Given the description of an element on the screen output the (x, y) to click on. 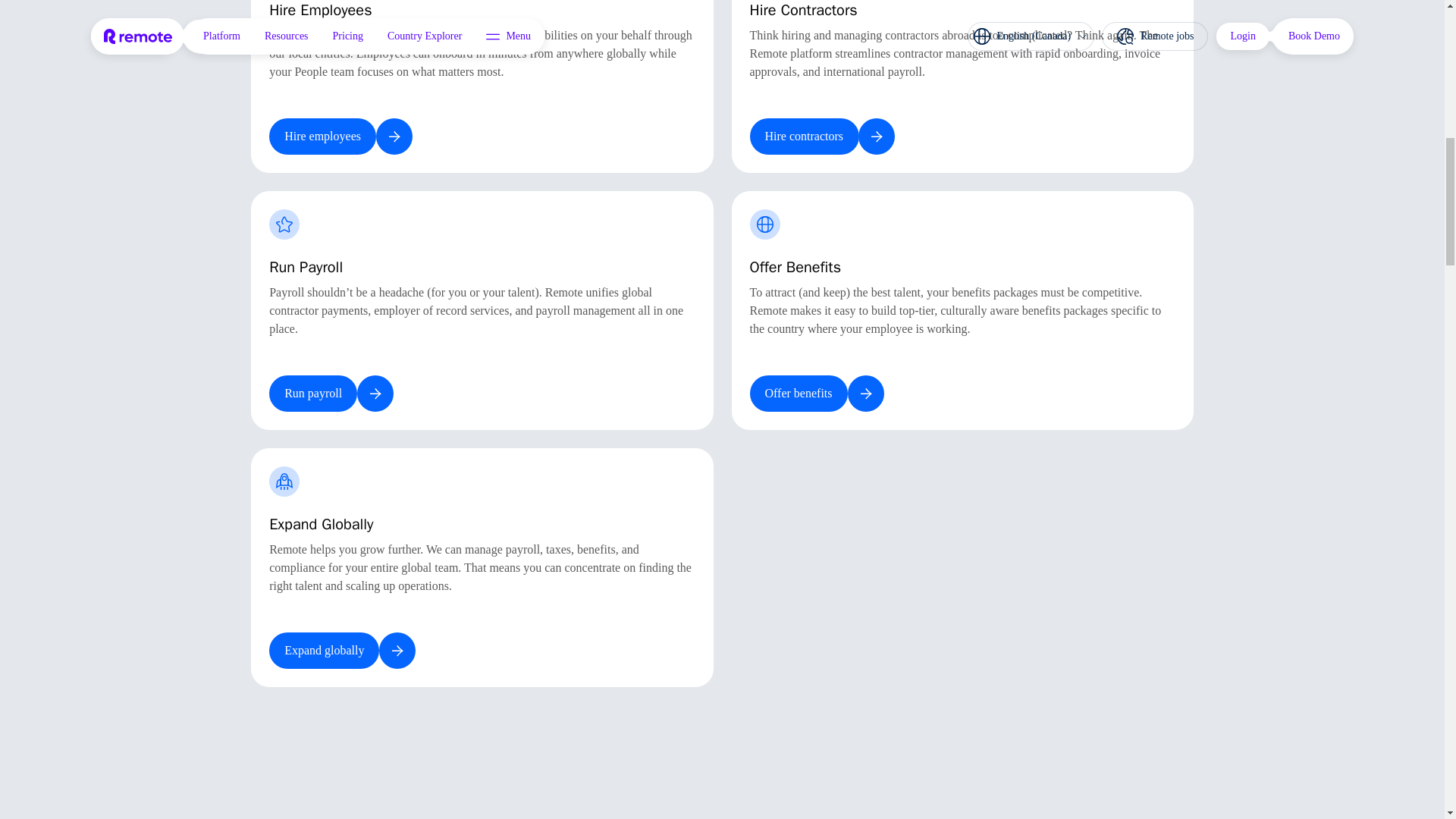
Hire Contractors (961, 86)
Run Payroll (481, 309)
Hire Employees (481, 86)
Expand Globally (481, 567)
Offer Benefits (961, 309)
